Given the description of an element on the screen output the (x, y) to click on. 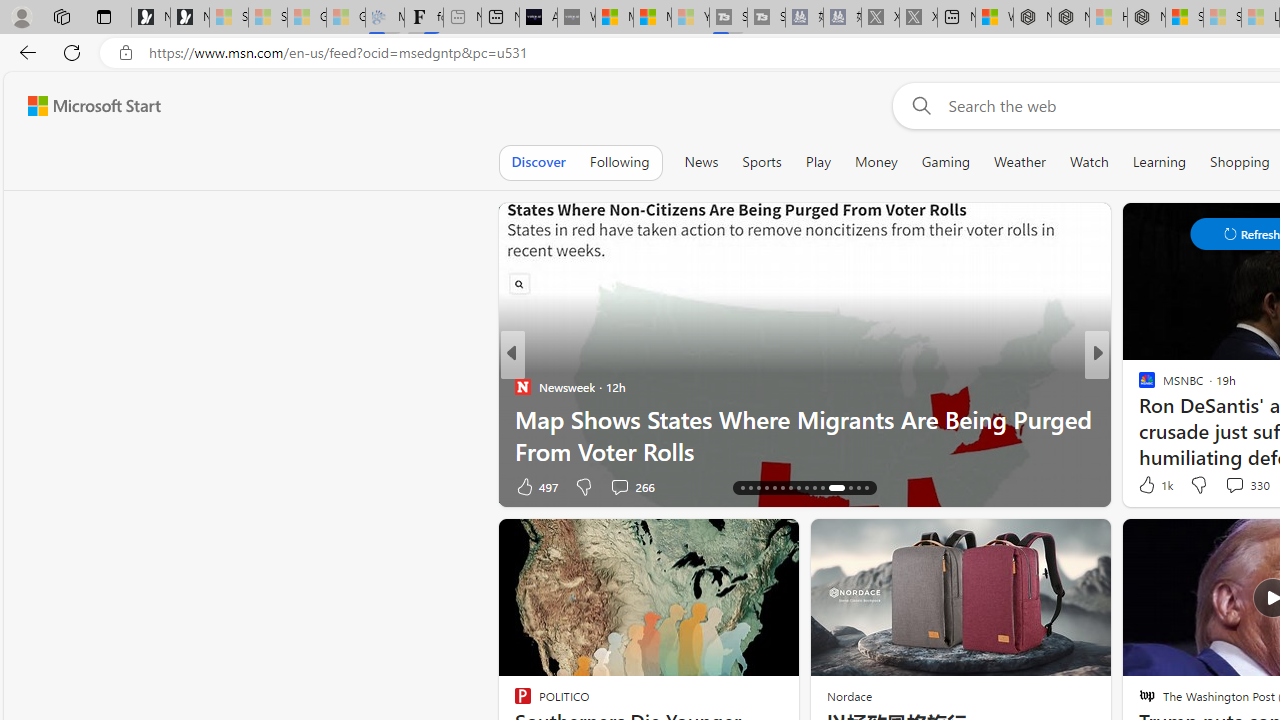
1k Like (1154, 484)
AutomationID: tab-29 (857, 487)
AutomationID: tab-20 (774, 487)
AI Voice Changer for PC and Mac - Voice.ai (537, 17)
Learning (1159, 161)
Gaming (945, 162)
Web search (917, 105)
181 Like (1151, 486)
